Given the description of an element on the screen output the (x, y) to click on. 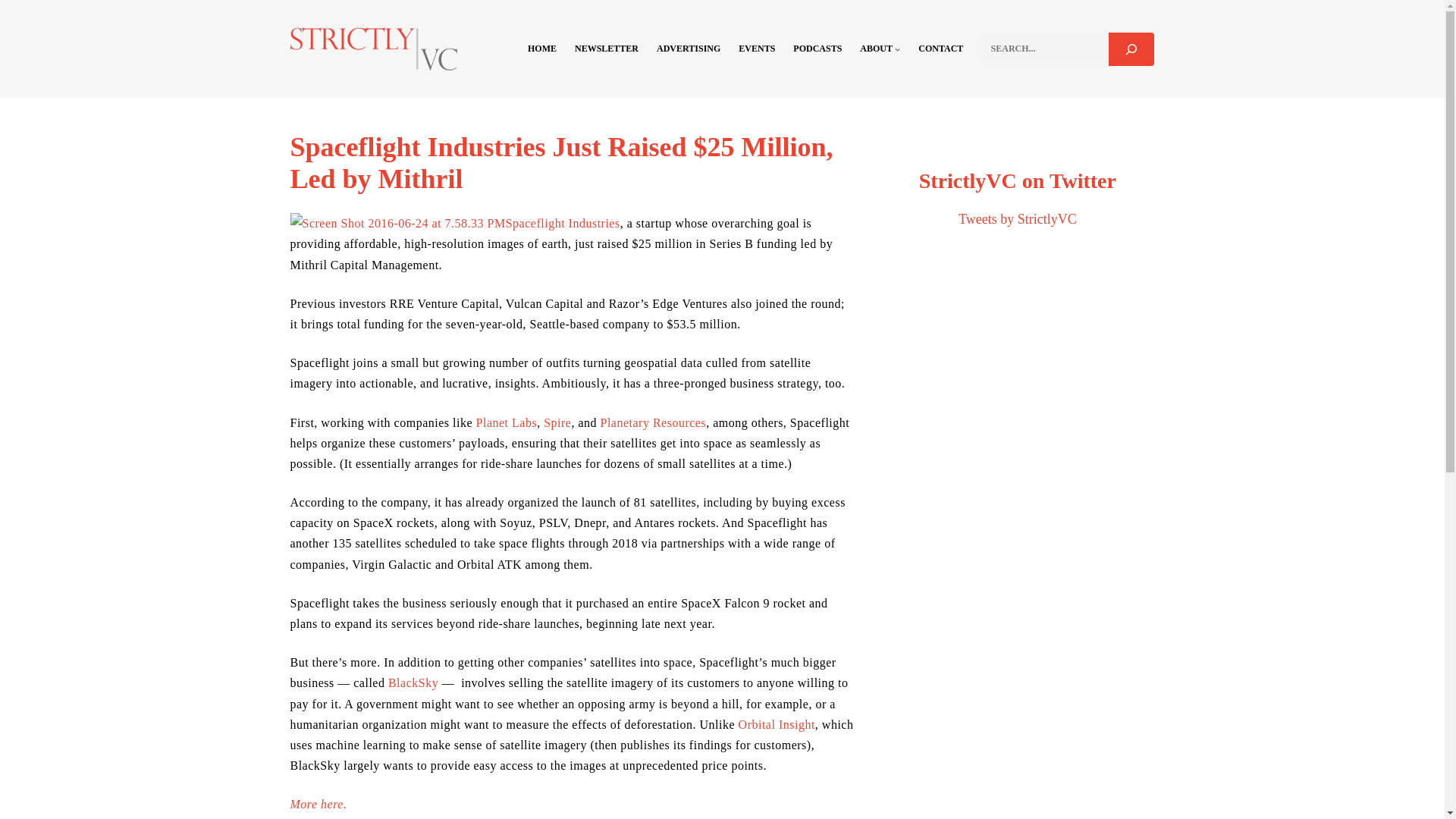
PODCASTS (817, 48)
BlackSky (413, 682)
ABOUT (876, 48)
Orbital Insight (776, 724)
More here. (317, 803)
EVENTS (756, 48)
Planetary Resources (652, 421)
HOME (541, 48)
Spire (556, 421)
NEWSLETTER (607, 48)
ADVERTISING (688, 48)
Tweets by StrictlyVC (1017, 218)
Spaceflight Industries (562, 223)
CONTACT (940, 48)
Planet Labs (506, 421)
